Given the description of an element on the screen output the (x, y) to click on. 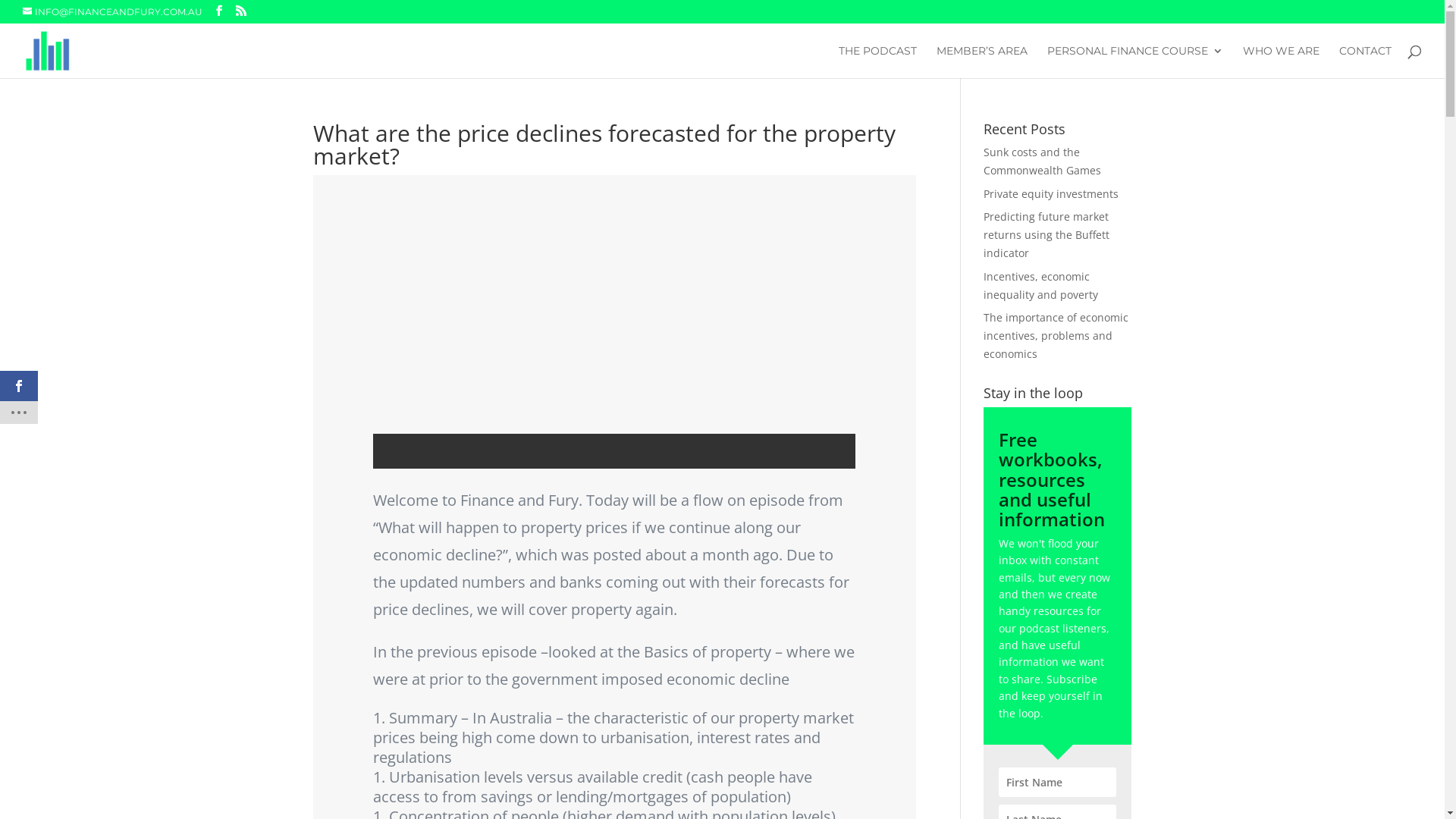
Sunk costs and the Commonwealth Games Element type: text (1042, 160)
CONTACT Element type: text (1365, 61)
INFO@FINANCEANDFURY.COM.AU Element type: text (112, 11)
Incentives, economic inequality and poverty Element type: text (1040, 285)
THE PODCAST Element type: text (877, 61)
Private equity investments Element type: text (1050, 193)
PERSONAL FINANCE COURSE Element type: text (1135, 61)
Predicting future market returns using the Buffett indicator Element type: text (1046, 234)
WHO WE ARE Element type: text (1280, 61)
